Given the description of an element on the screen output the (x, y) to click on. 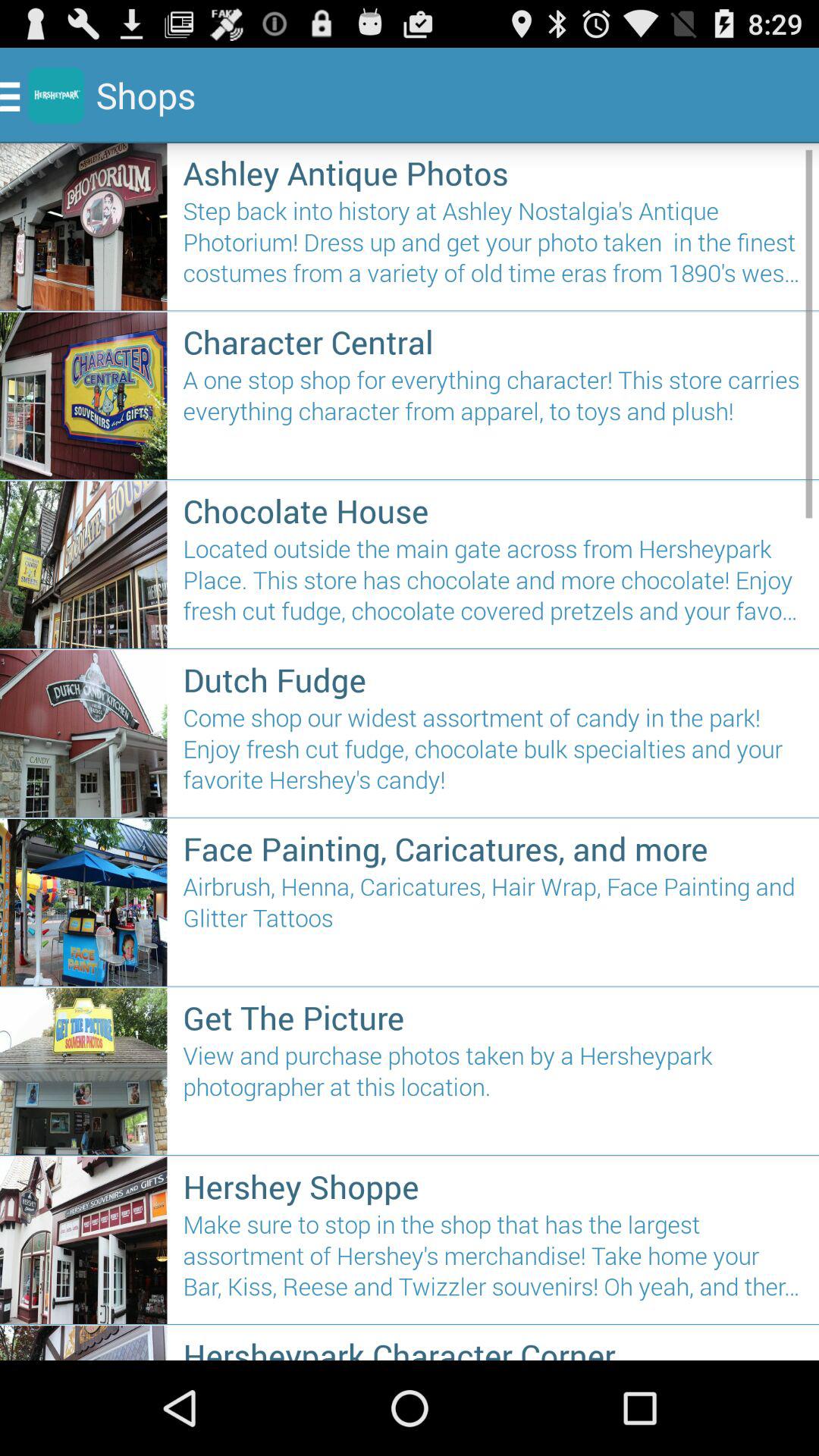
jump to a one stop (493, 417)
